Given the description of an element on the screen output the (x, y) to click on. 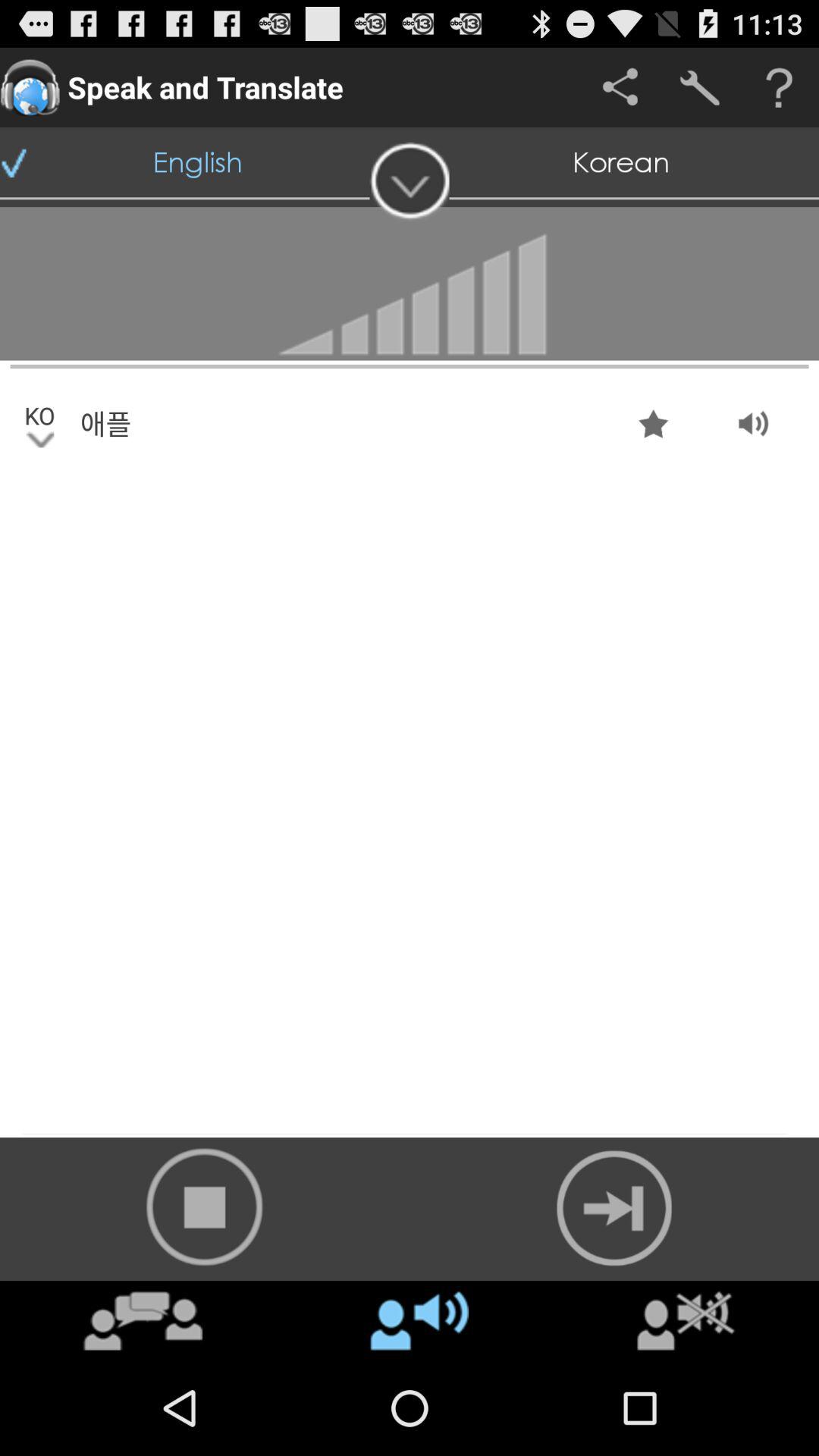
work button or tool kit button (699, 87)
